Given the description of an element on the screen output the (x, y) to click on. 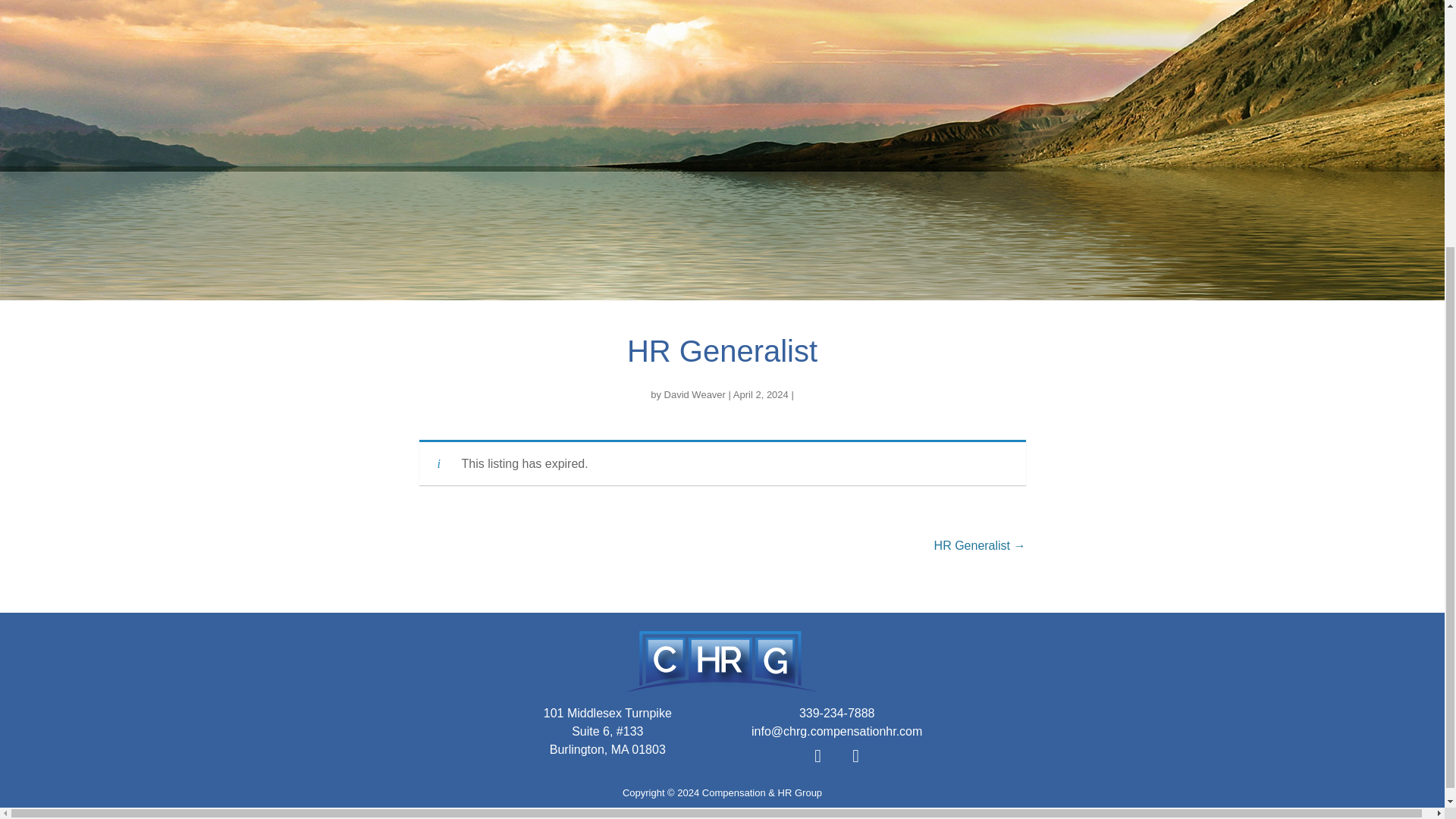
339-234-7888 (837, 712)
April 2, 2024 (761, 394)
David Weaver (694, 394)
View all posts by David Weaver (694, 394)
3:57 pm (761, 394)
